Given the description of an element on the screen output the (x, y) to click on. 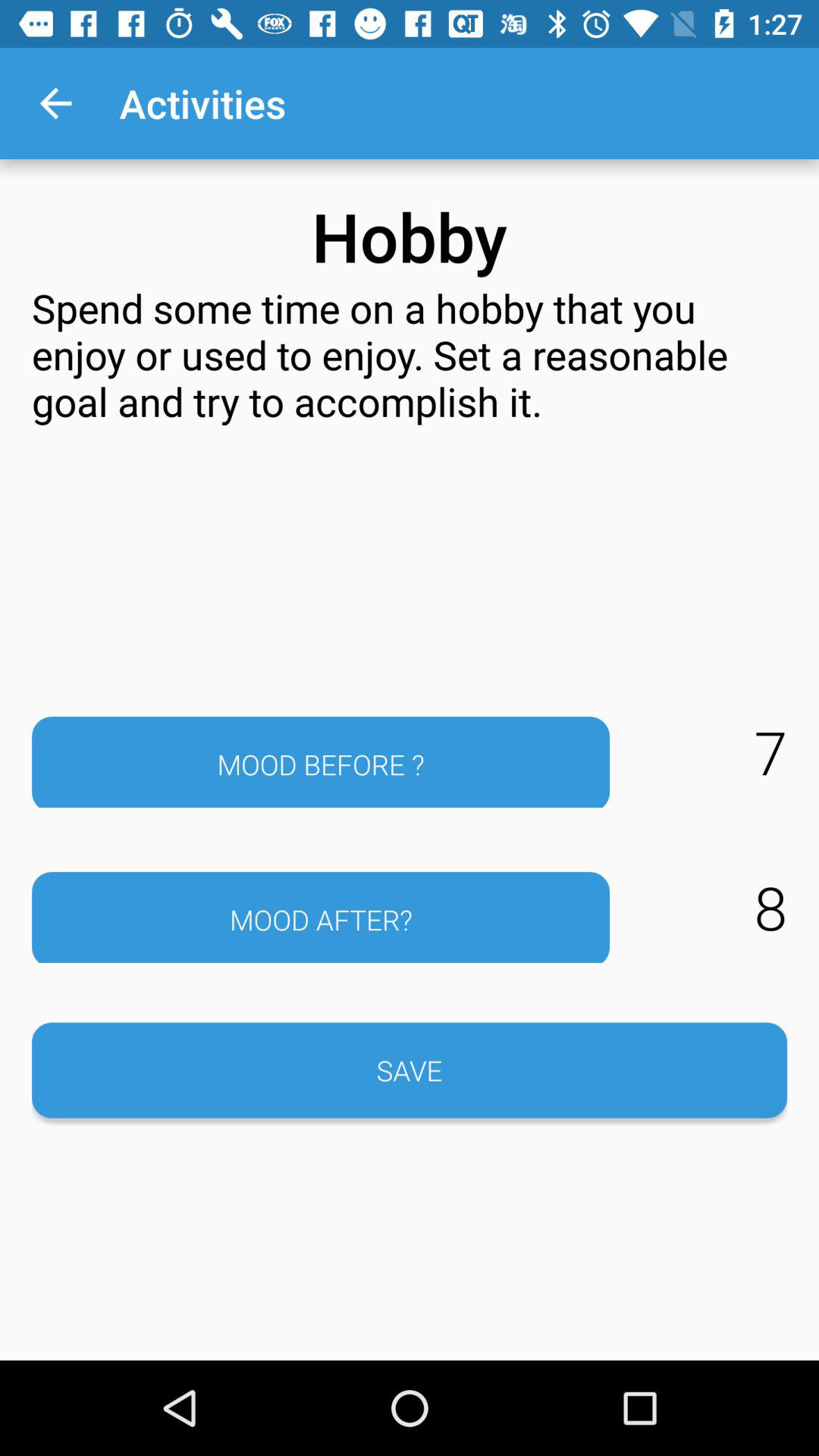
open the app above the spend some time icon (55, 103)
